Given the description of an element on the screen output the (x, y) to click on. 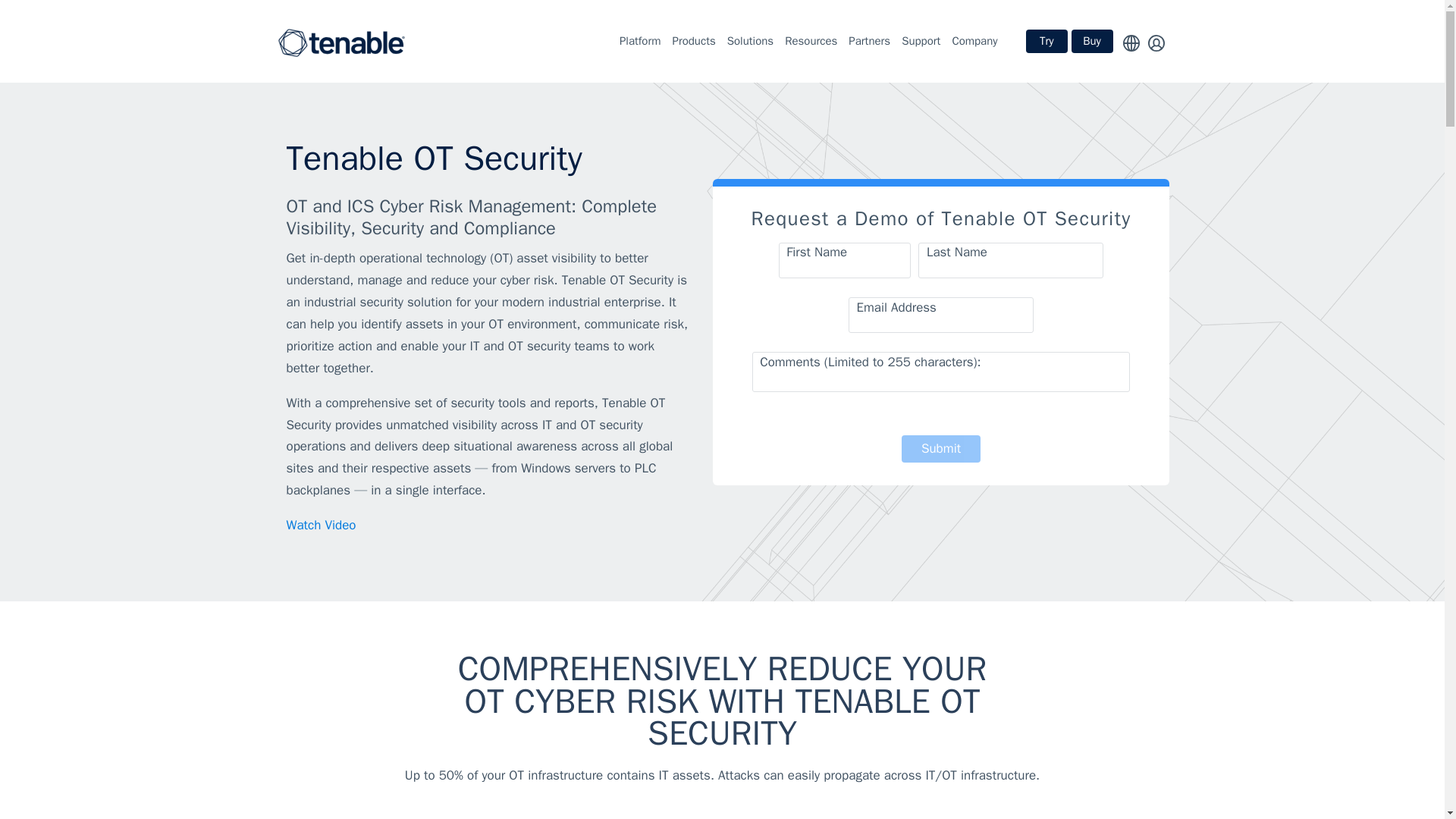
Platform (639, 40)
Company (974, 40)
Products (693, 40)
Resources (810, 40)
Partners (869, 40)
Try (1046, 41)
Solutions (749, 40)
Tenable (341, 41)
Support (921, 40)
Buy (1091, 41)
